Given the description of an element on the screen output the (x, y) to click on. 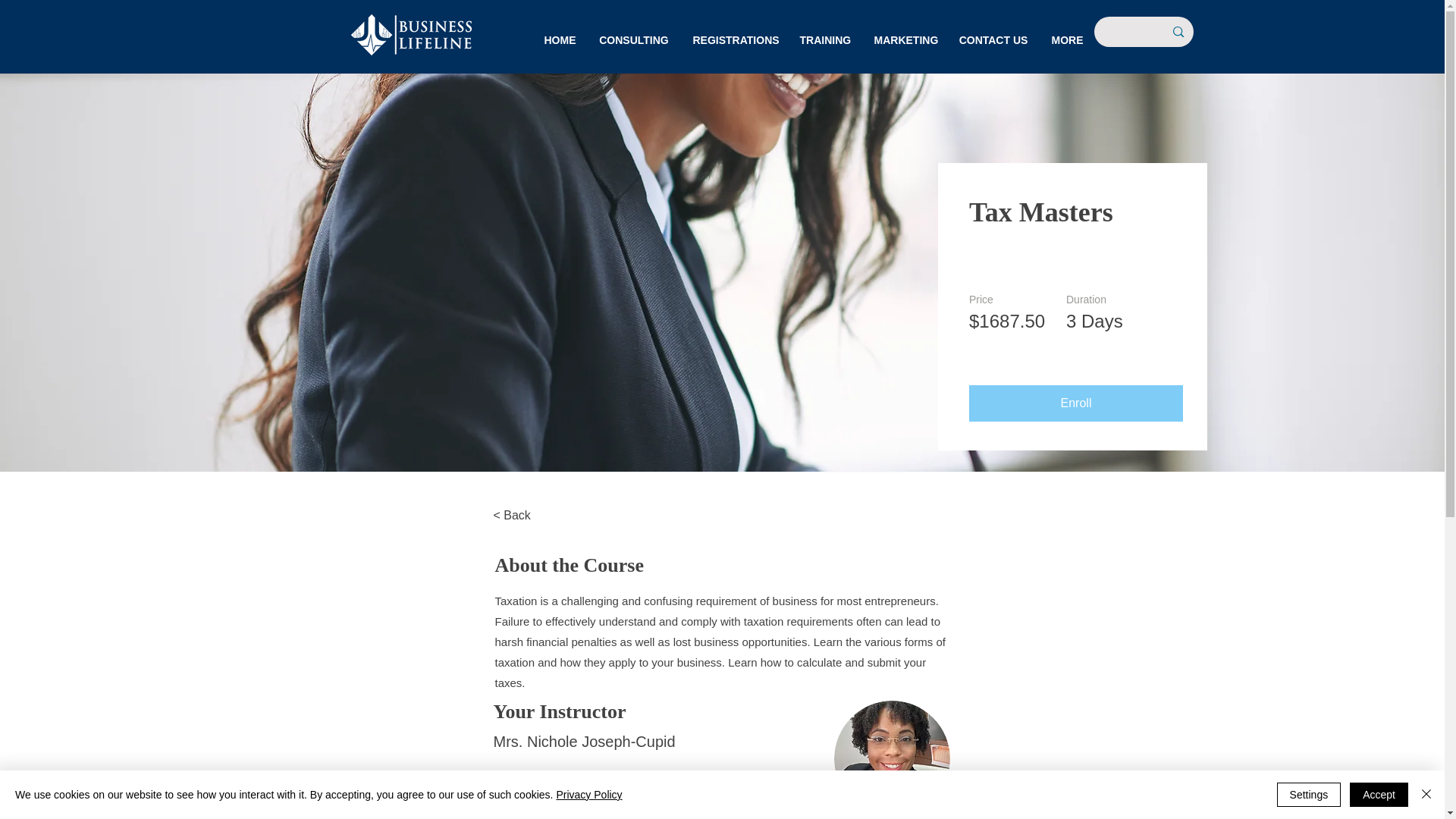
Settings (1308, 794)
Enroll (1075, 402)
HOME (559, 40)
Privacy Policy (588, 794)
Accept (1378, 794)
CONTACT US (993, 40)
